Given the description of an element on the screen output the (x, y) to click on. 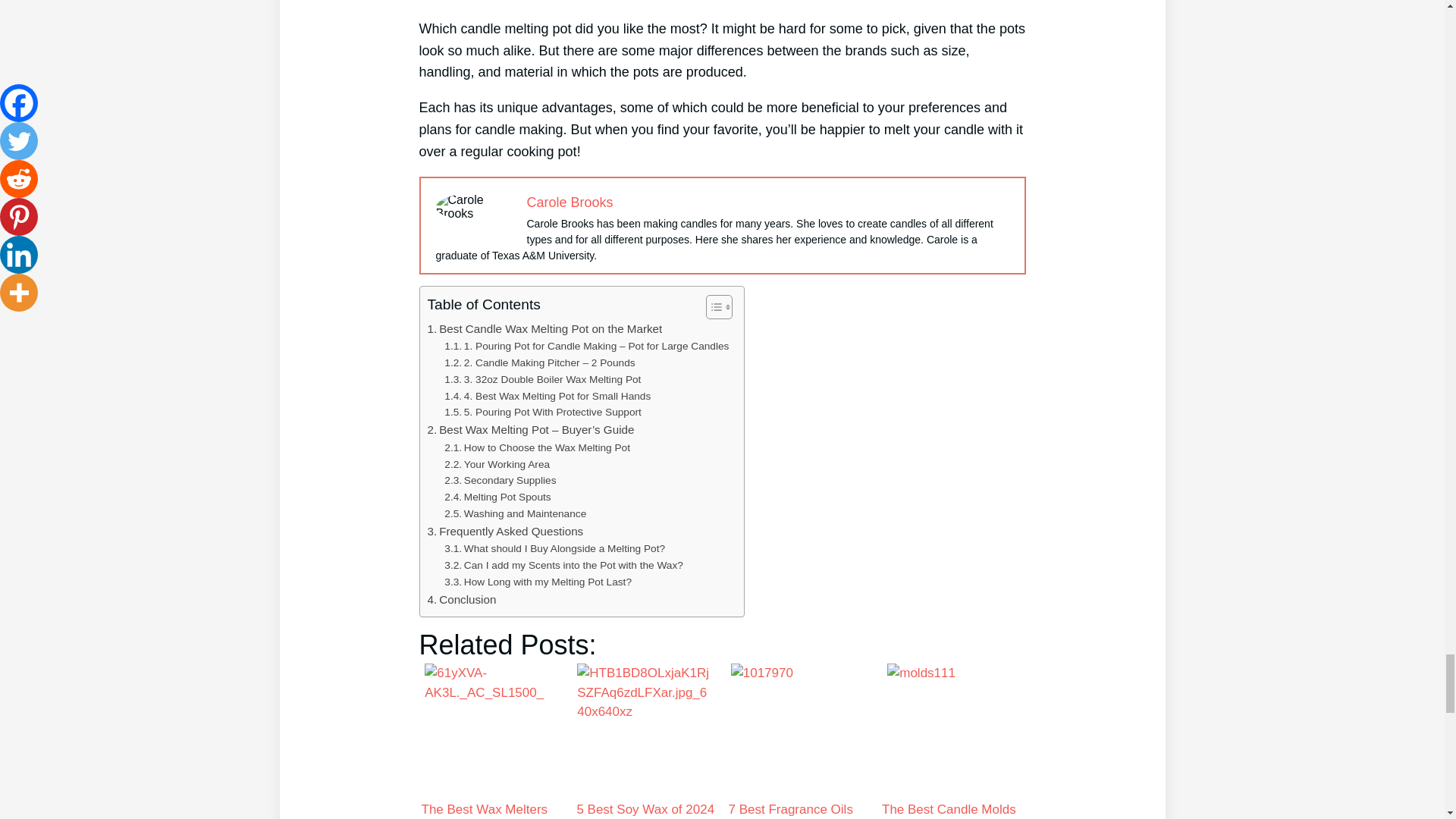
3. 32oz Double Boiler Wax Melting Pot (542, 379)
Carole Brooks (568, 201)
Best Candle Wax Melting Pot on the Market (545, 329)
5. Pouring Pot With Protective Support (543, 412)
How to Choose the Wax Melting Pot (537, 447)
Best Candle Wax Melting Pot on the Market (545, 329)
4. Best Wax Melting Pot for Small Hands (547, 396)
